Given the description of an element on the screen output the (x, y) to click on. 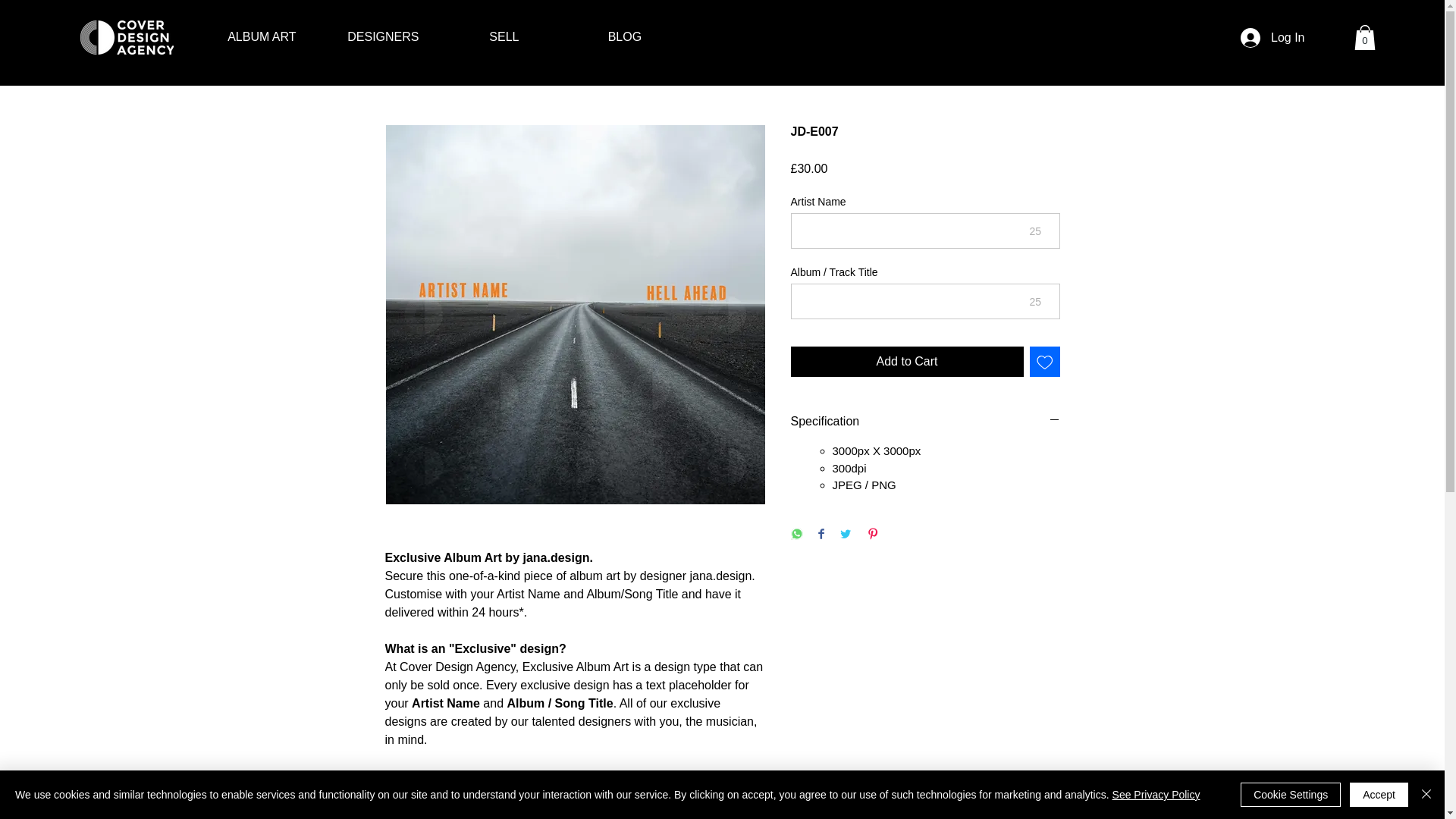
Specification (924, 421)
Accept (1378, 794)
See Privacy Policy (1155, 794)
BLOG (624, 37)
Log In (1272, 37)
0 (1364, 37)
SELL (504, 37)
0 (1364, 37)
Add to Cart (906, 361)
Cookie Settings (1290, 794)
